Given the description of an element on the screen output the (x, y) to click on. 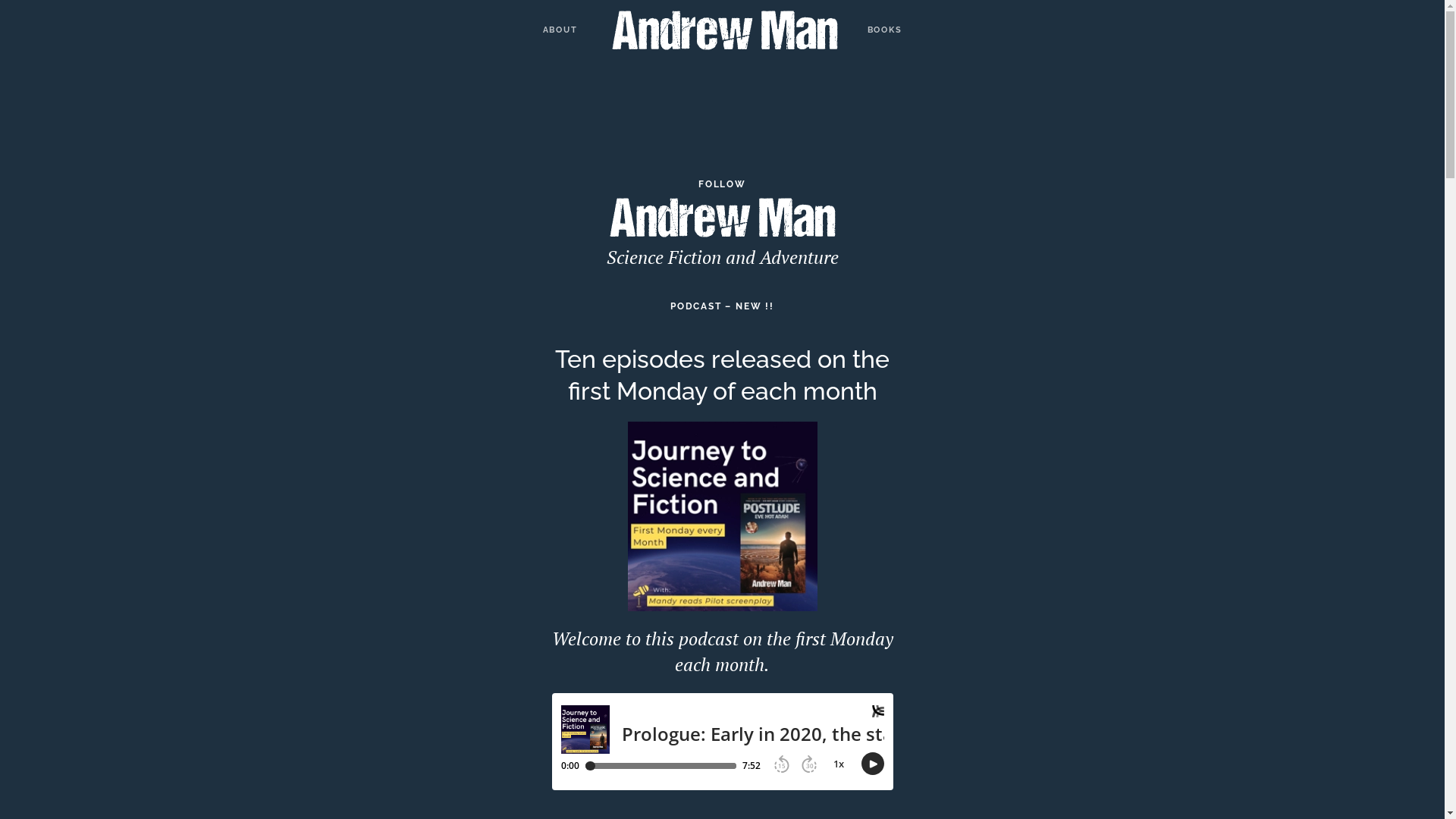
ABOUT Element type: text (559, 30)
BOOKS Element type: text (884, 30)
Embed Player Element type: hover (722, 741)
